Given the description of an element on the screen output the (x, y) to click on. 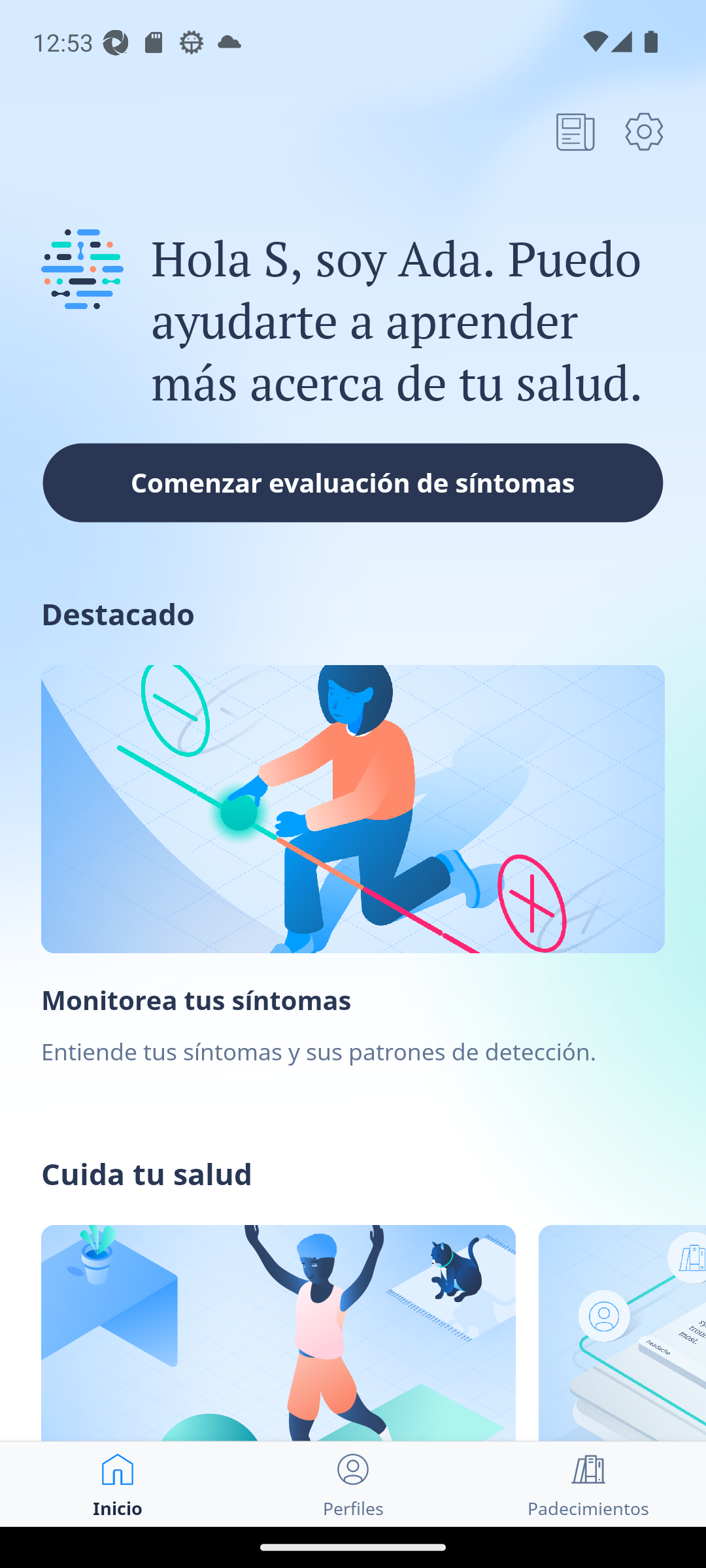
article icon , open articles (574, 131)
settings icon, open settings (644, 131)
Comenzar evaluación de síntomas (352, 482)
Inicio (117, 1484)
Perfiles (352, 1484)
Padecimientos (588, 1484)
